Given the description of an element on the screen output the (x, y) to click on. 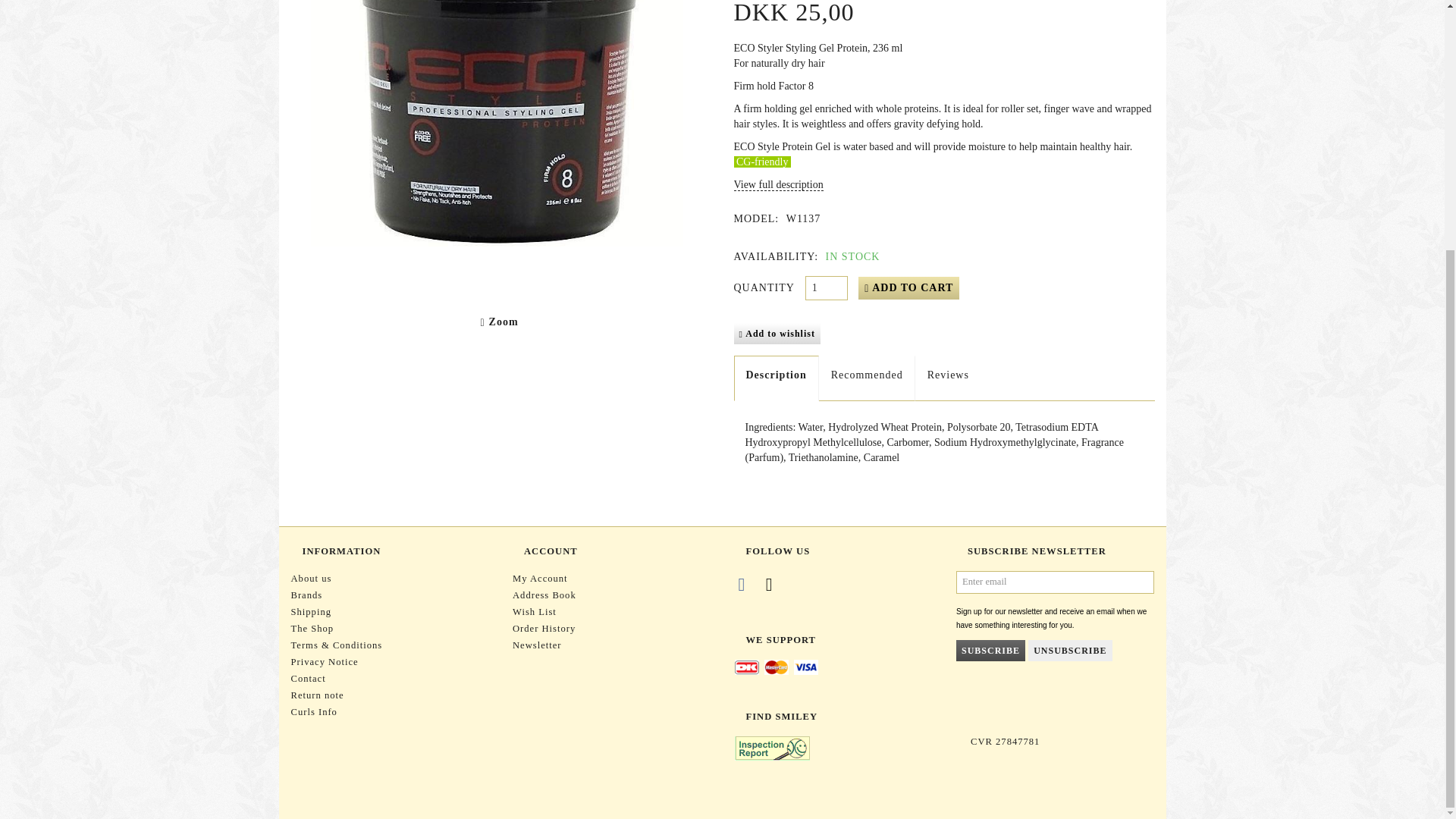
ECO Styler Styling Gel protein 236 ml (499, 147)
In stock (850, 256)
ECO Styler Styling Gel protein 236 ml (499, 147)
Add to wishlist (777, 332)
1 (826, 288)
